Given the description of an element on the screen output the (x, y) to click on. 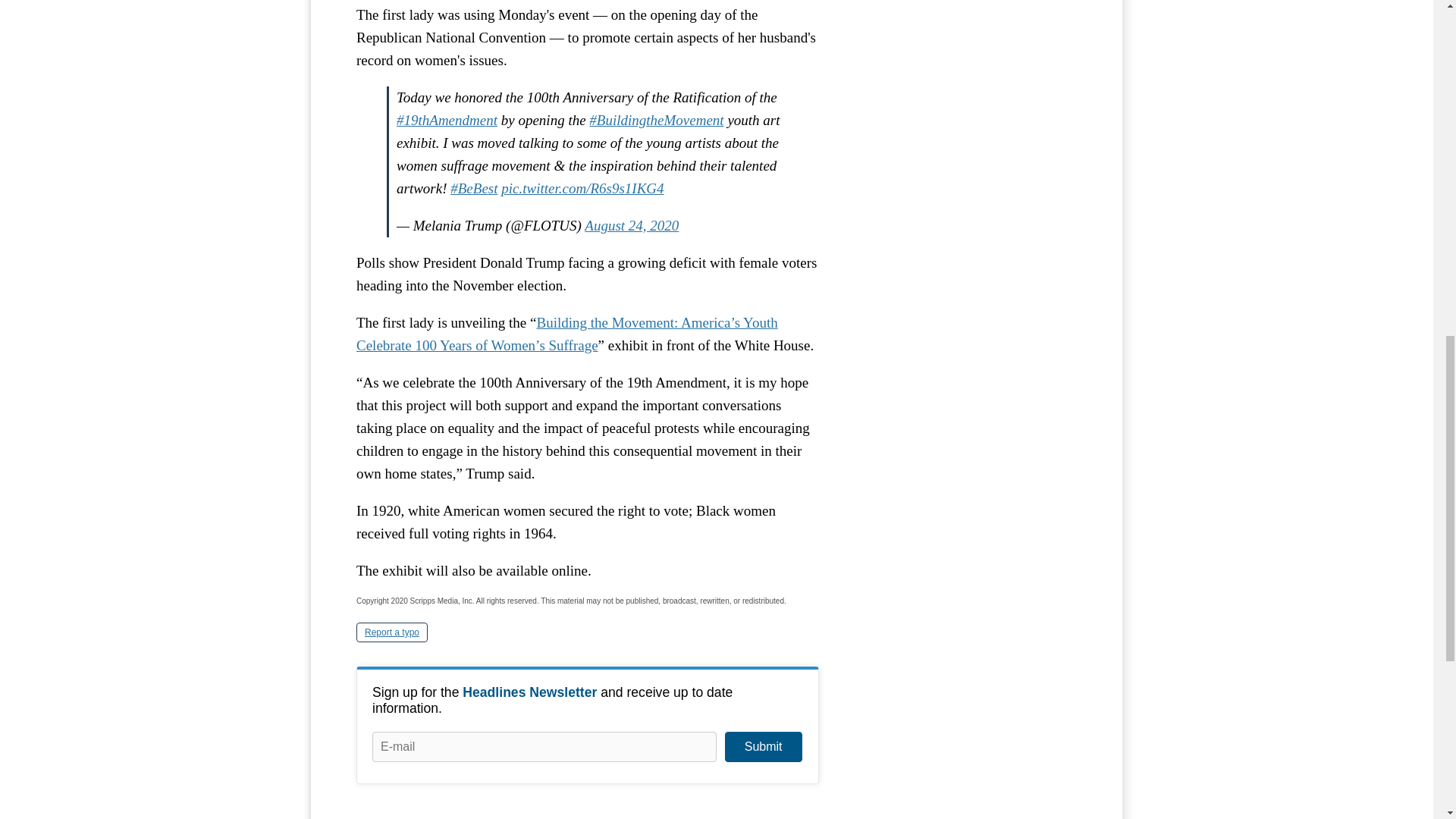
Submit (763, 747)
